Given the description of an element on the screen output the (x, y) to click on. 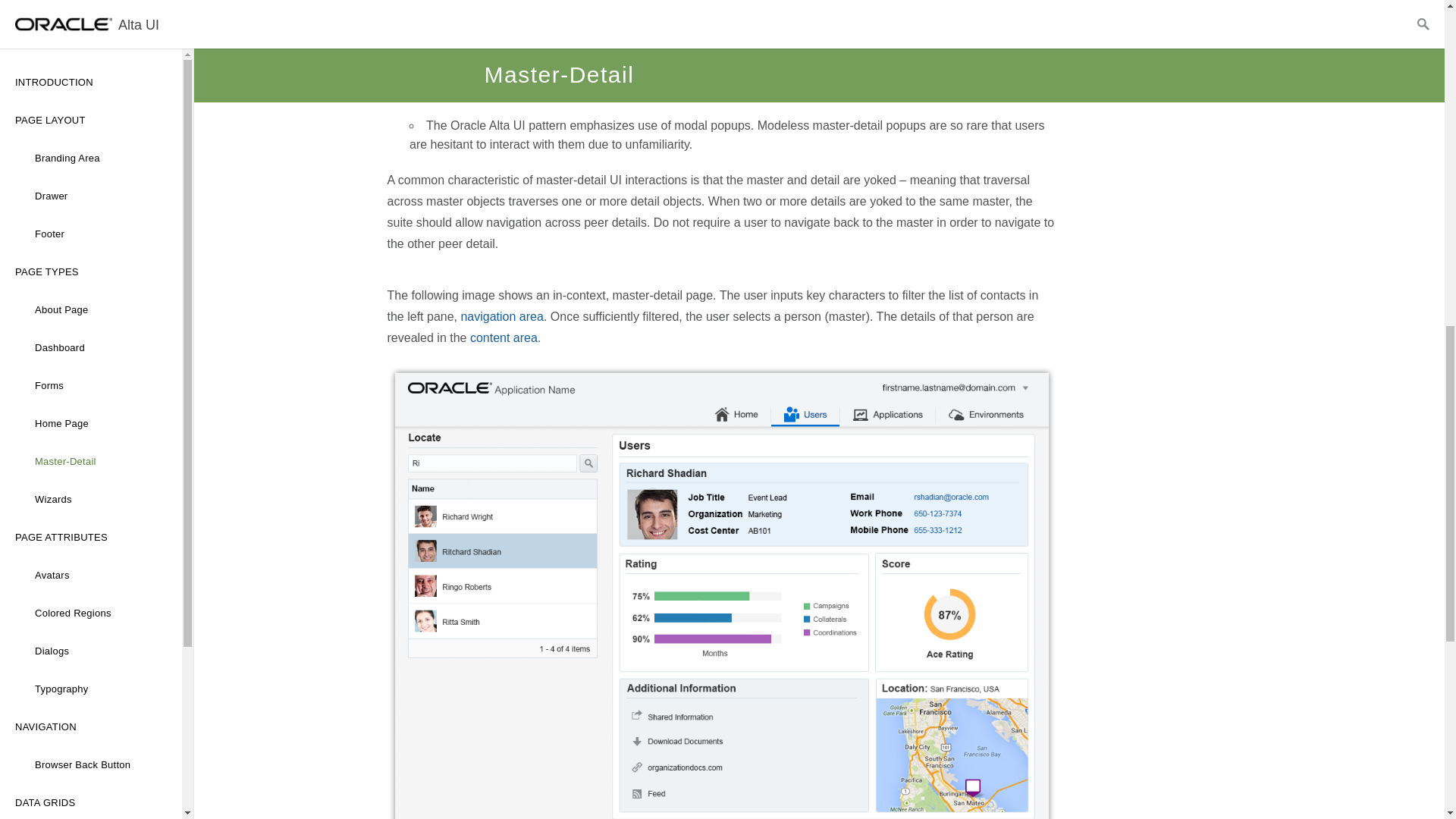
DATA GRIDS (91, 1)
First-Item Help (91, 59)
navigation area (501, 316)
Inline and Placeholder Text (91, 135)
content area (503, 337)
RESPONSIVE DESIGN (91, 173)
EVERYDAY USER ASSISTANCE (91, 97)
FIRST-USE USER ASSISTANCE (91, 21)
